Given the description of an element on the screen output the (x, y) to click on. 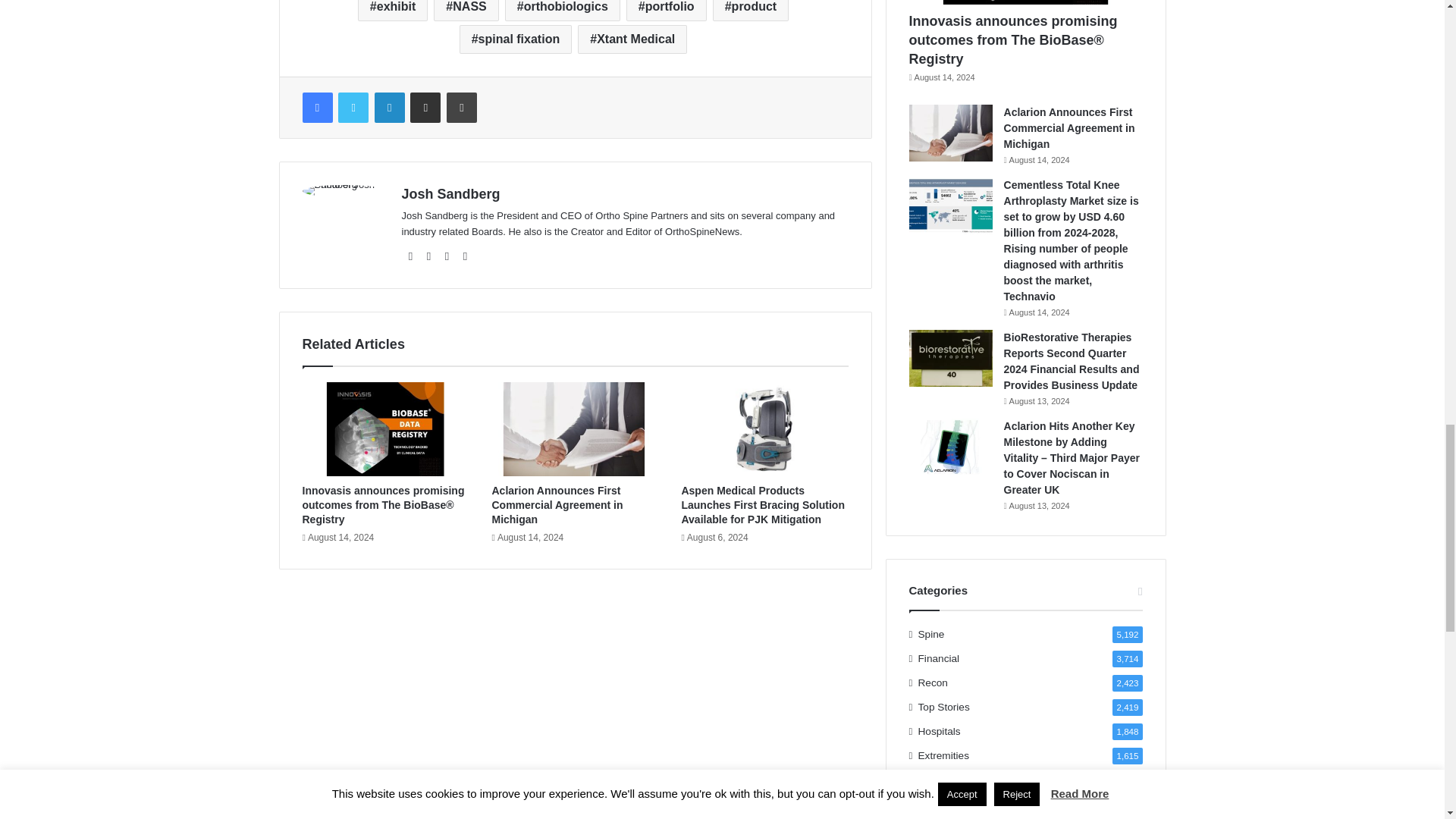
orthobiologics (562, 10)
exhibit (393, 10)
Facebook (316, 107)
LinkedIn (389, 107)
Print (461, 107)
product (751, 10)
NASS (465, 10)
spinal fixation (516, 38)
Share via Email (425, 107)
portfolio (666, 10)
